Given the description of an element on the screen output the (x, y) to click on. 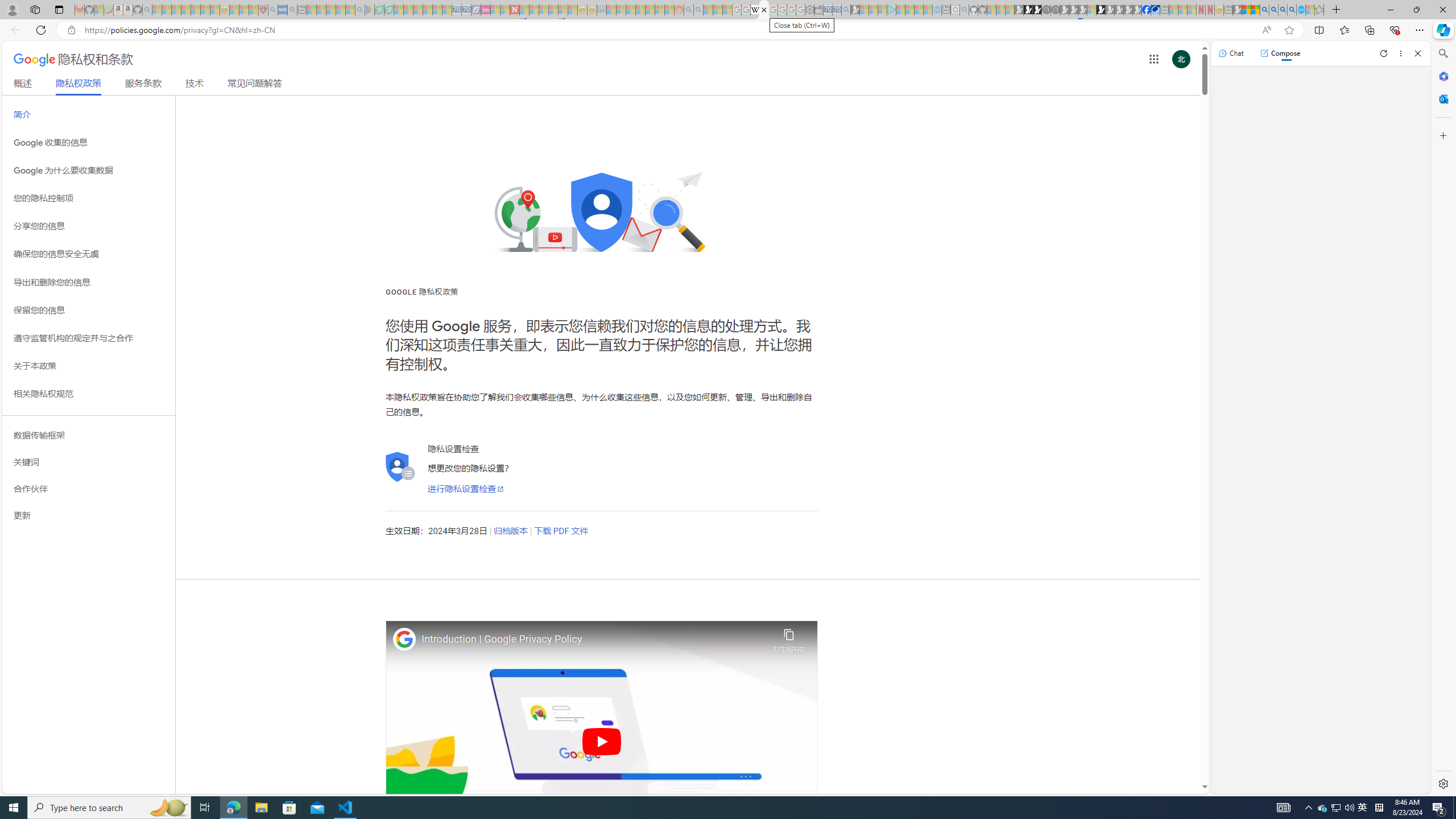
Microsoft Start Gaming - Sleeping (854, 9)
The Weather Channel - MSN - Sleeping (175, 9)
Latest Politics News & Archive | Newsweek.com - Sleeping (514, 9)
github - Search - Sleeping (964, 9)
utah sues federal government - Search - Sleeping (291, 9)
